Given the description of an element on the screen output the (x, y) to click on. 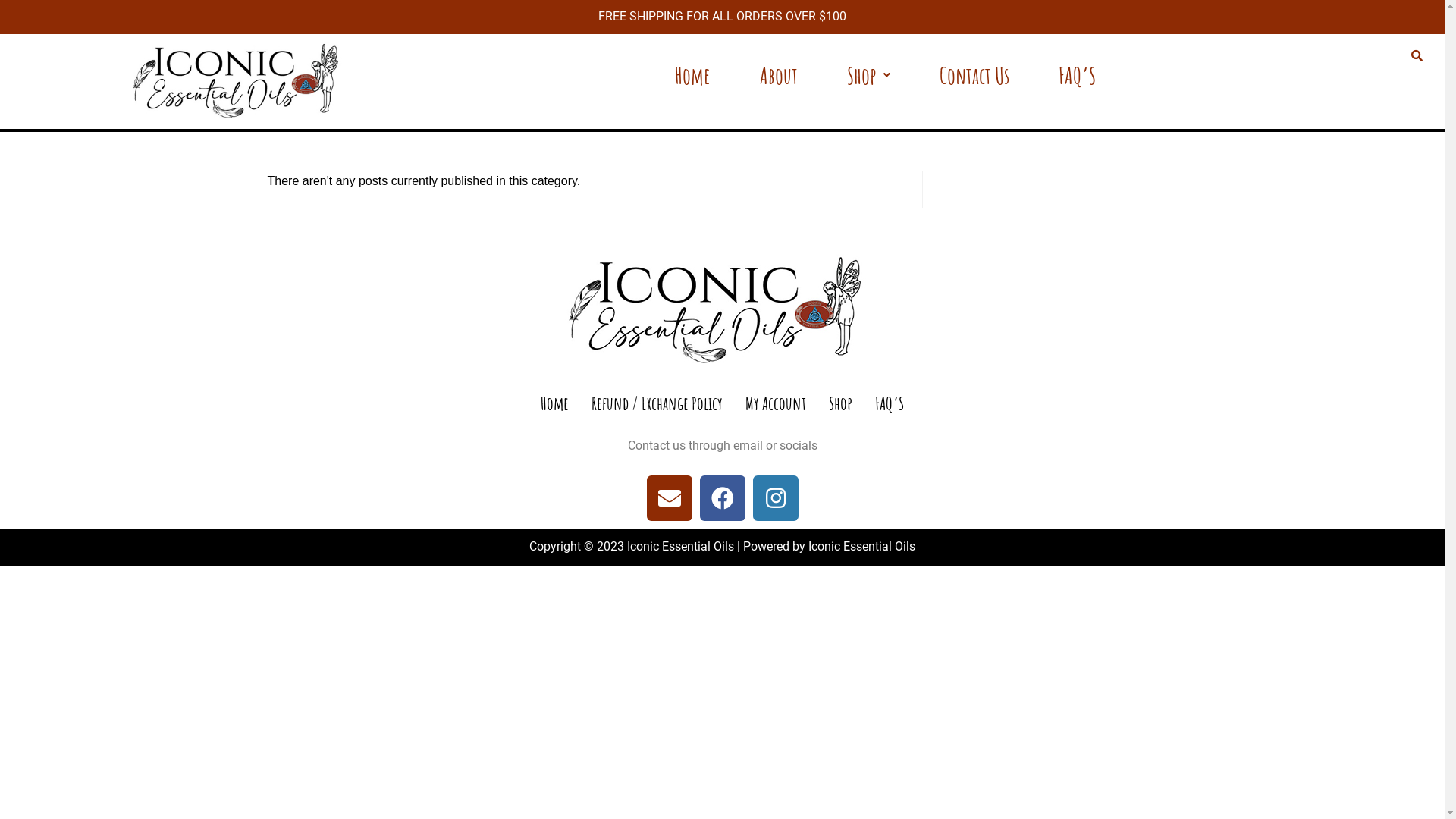
Search Element type: hover (1414, 56)
About Element type: text (778, 75)
Shop Element type: text (840, 402)
Home Element type: text (692, 75)
Home Element type: text (554, 402)
Shop Element type: text (868, 75)
Contact Us Element type: text (974, 75)
Refund / Exchange Policy Element type: text (657, 402)
My Account Element type: text (775, 402)
